Given the description of an element on the screen output the (x, y) to click on. 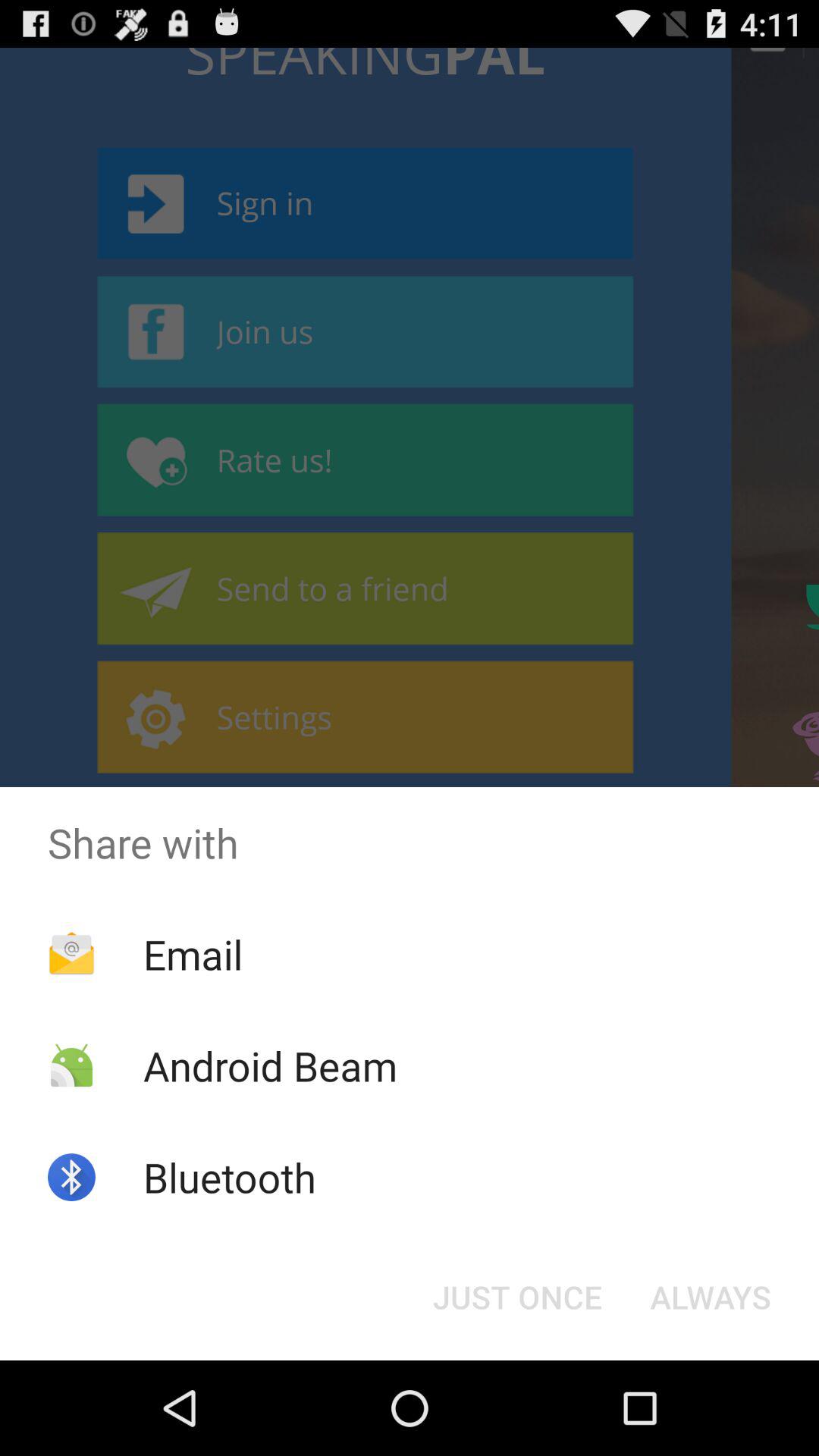
open the just once icon (517, 1296)
